Given the description of an element on the screen output the (x, y) to click on. 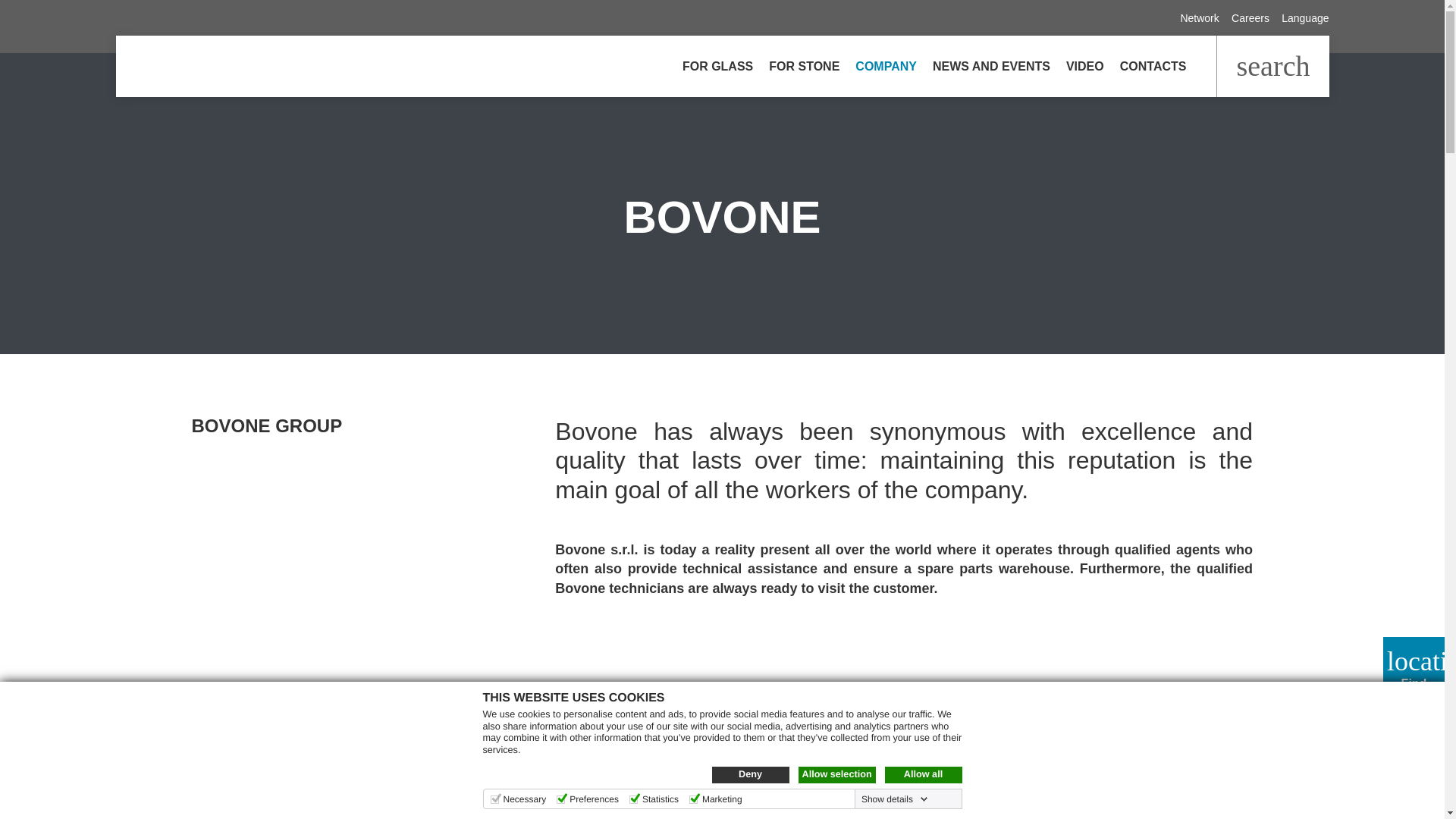
Allow all (921, 774)
Allow selection (836, 774)
Show details (895, 799)
Deny (750, 774)
Network (1198, 18)
